Given the description of an element on the screen output the (x, y) to click on. 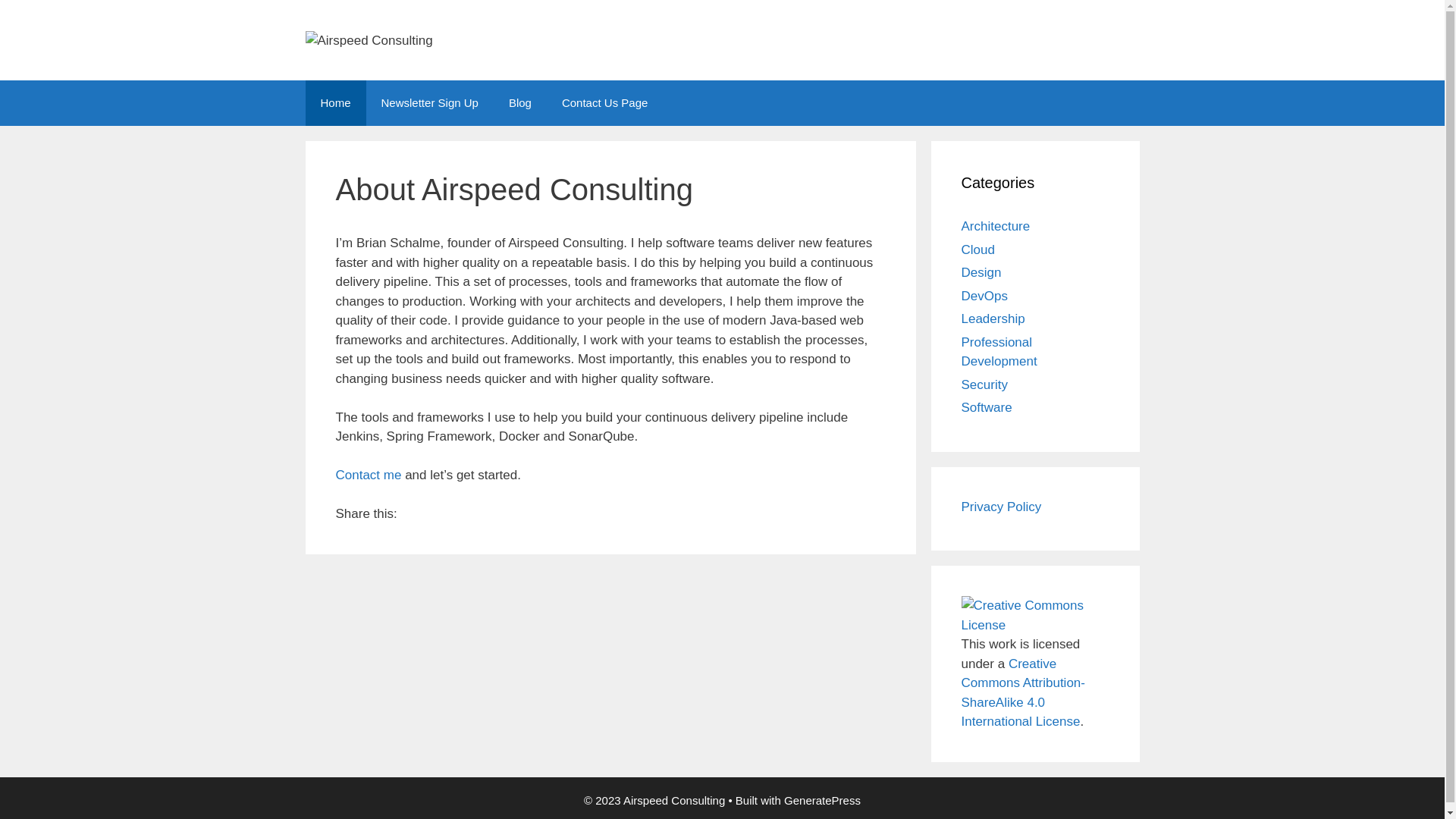
DevOps Element type: text (984, 295)
Contact Us Page Element type: text (604, 102)
Software Element type: text (986, 407)
Newsletter Sign Up Element type: text (429, 102)
Leadership Element type: text (993, 318)
Contact me Element type: text (368, 474)
Architecture Element type: text (995, 226)
Security Element type: text (984, 384)
Cloud Element type: text (977, 249)
Blog Element type: text (519, 102)
Professional Development Element type: text (999, 352)
Privacy Policy Element type: text (1001, 506)
GeneratePress Element type: text (822, 799)
Design Element type: text (981, 272)
Home Element type: text (334, 102)
